Given the description of an element on the screen output the (x, y) to click on. 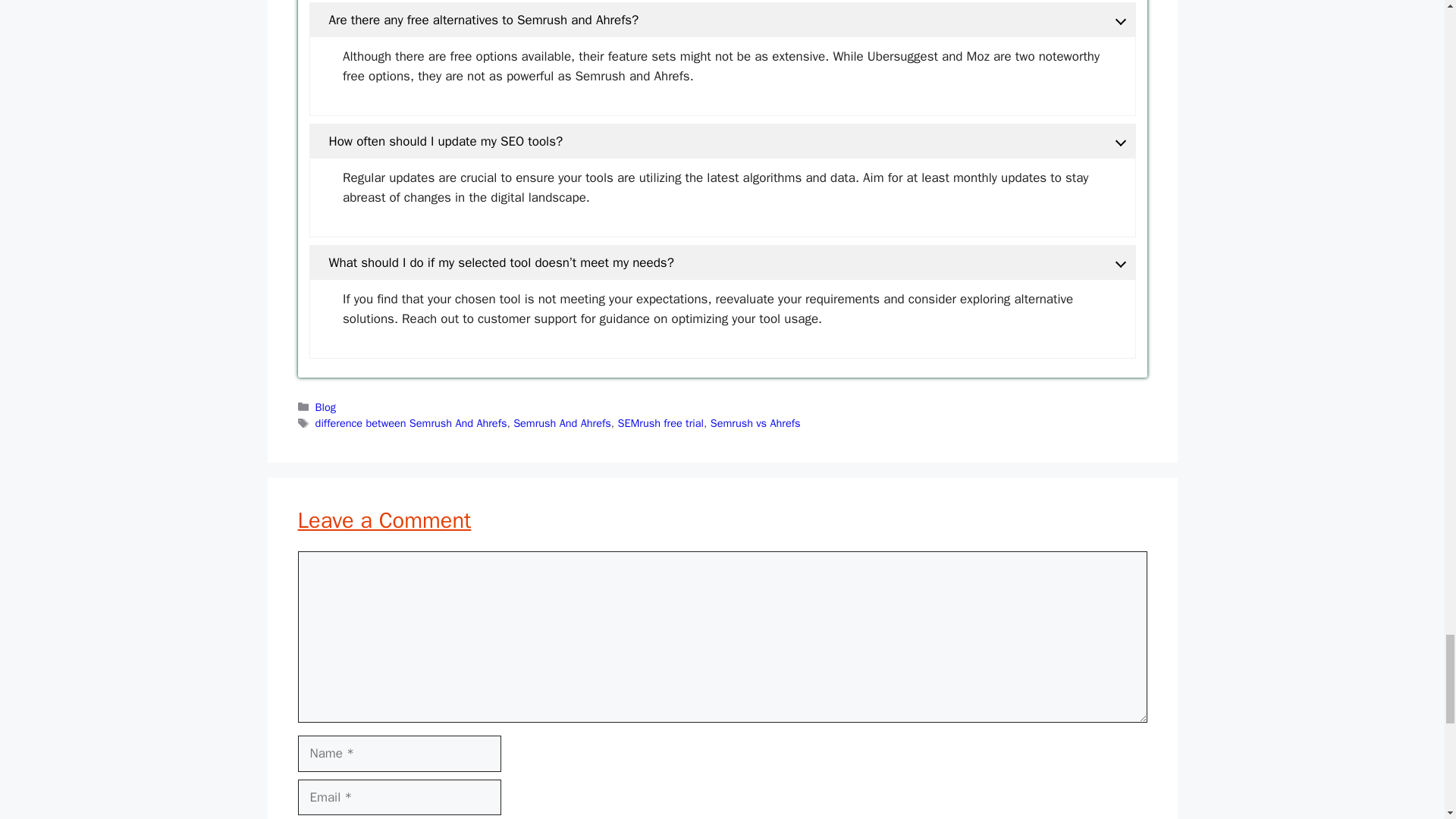
Semrush vs Ahrefs (755, 422)
Semrush And Ahrefs (562, 422)
SEMrush free trial (660, 422)
Blog (325, 407)
difference between Semrush And Ahrefs (410, 422)
